Given the description of an element on the screen output the (x, y) to click on. 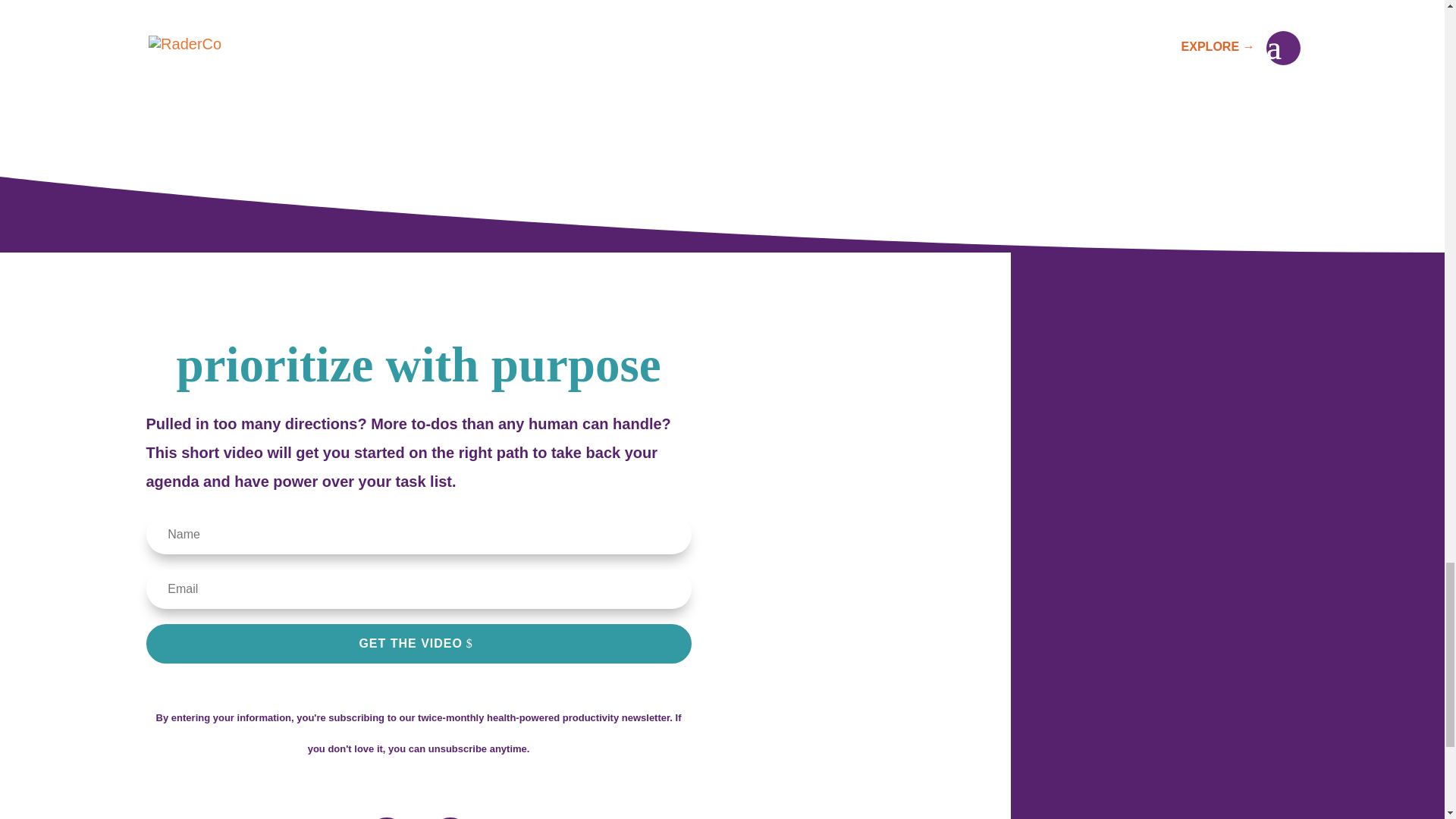
GET THE VIDEO (417, 643)
Follow on Youtube (450, 818)
Follow on LinkedIn (386, 818)
